Given the description of an element on the screen output the (x, y) to click on. 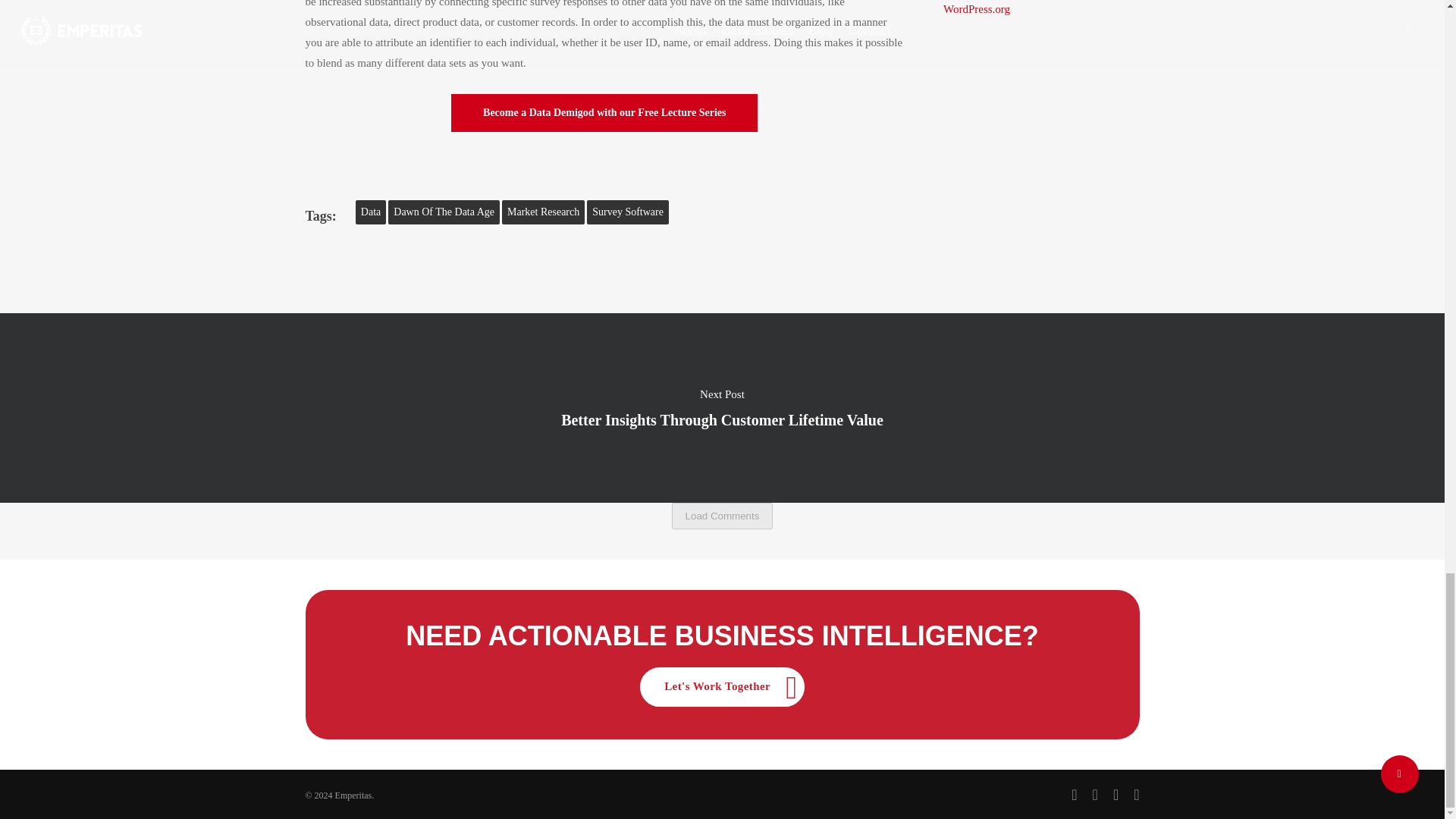
Market Research (543, 211)
Become a Data Demigod with our Free Lecture Series (604, 112)
Dawn Of The Data Age (443, 211)
Survey Software (627, 211)
Data (370, 211)
